Given the description of an element on the screen output the (x, y) to click on. 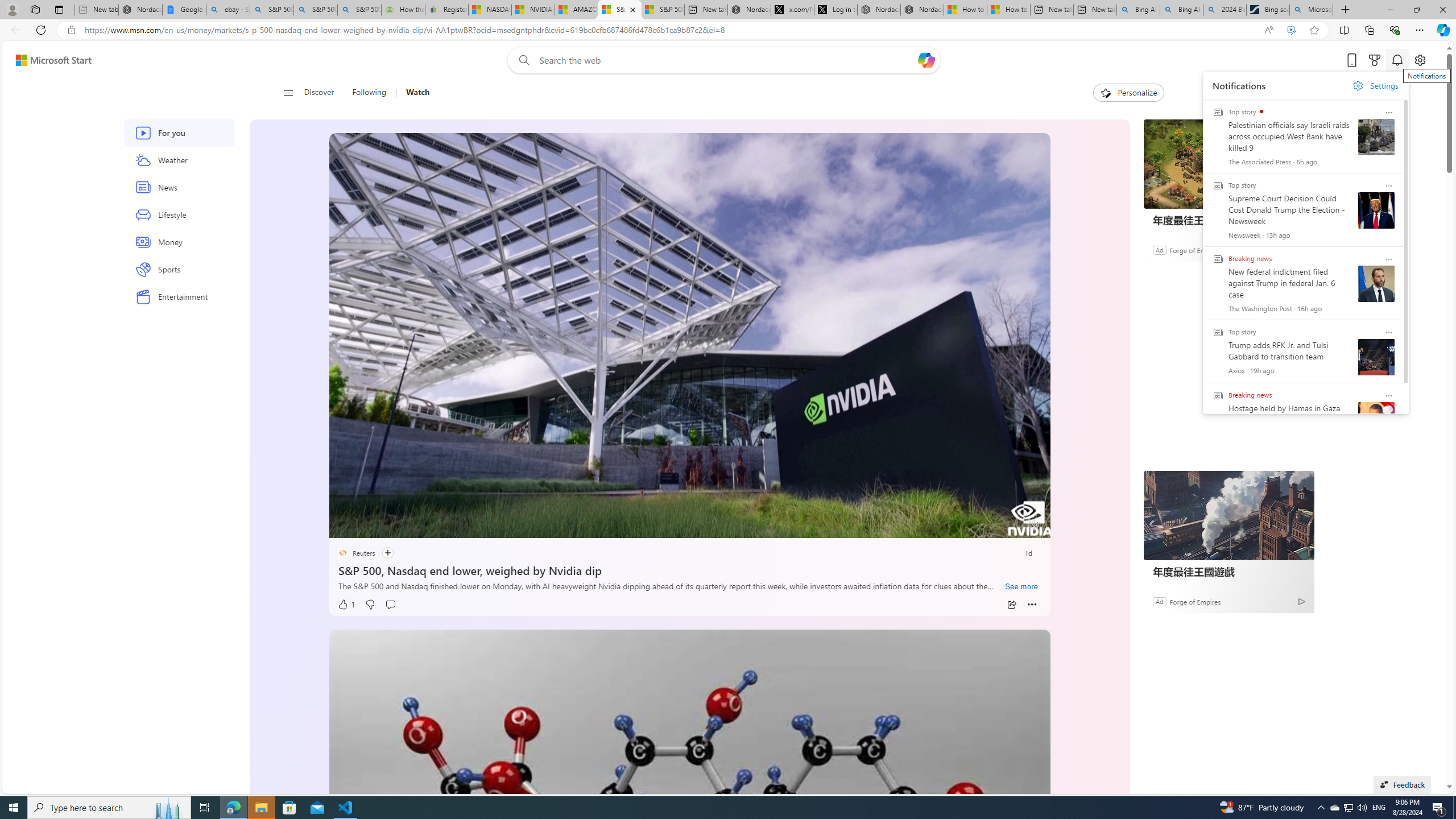
To get missing image descriptions, open the context menu. (1105, 92)
Quality Settings (964, 525)
Card Action (1388, 395)
